Given the description of an element on the screen output the (x, y) to click on. 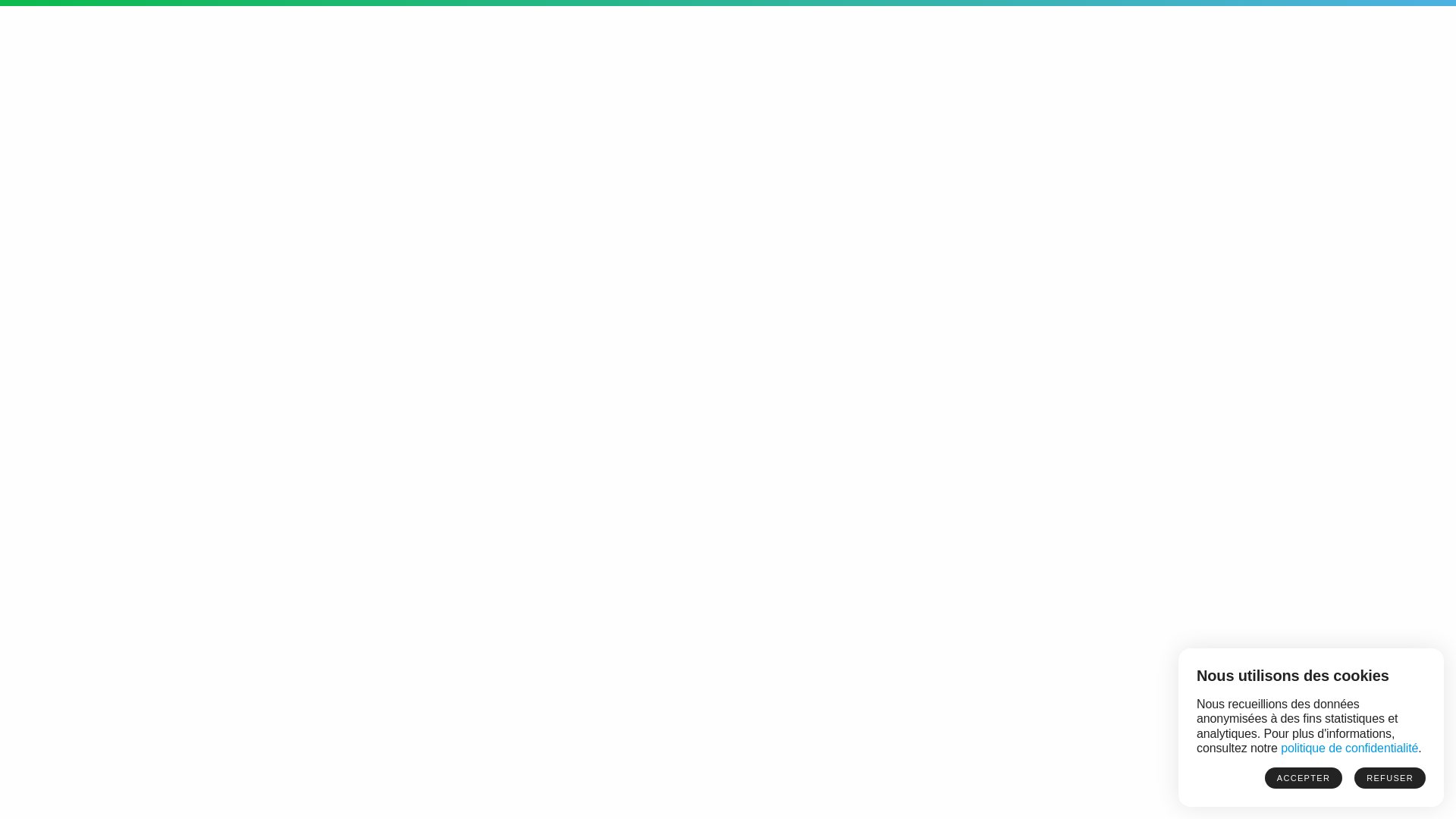
ACCEPTER Element type: text (1303, 777)
REFUSER Element type: text (1389, 777)
